Given the description of an element on the screen output the (x, y) to click on. 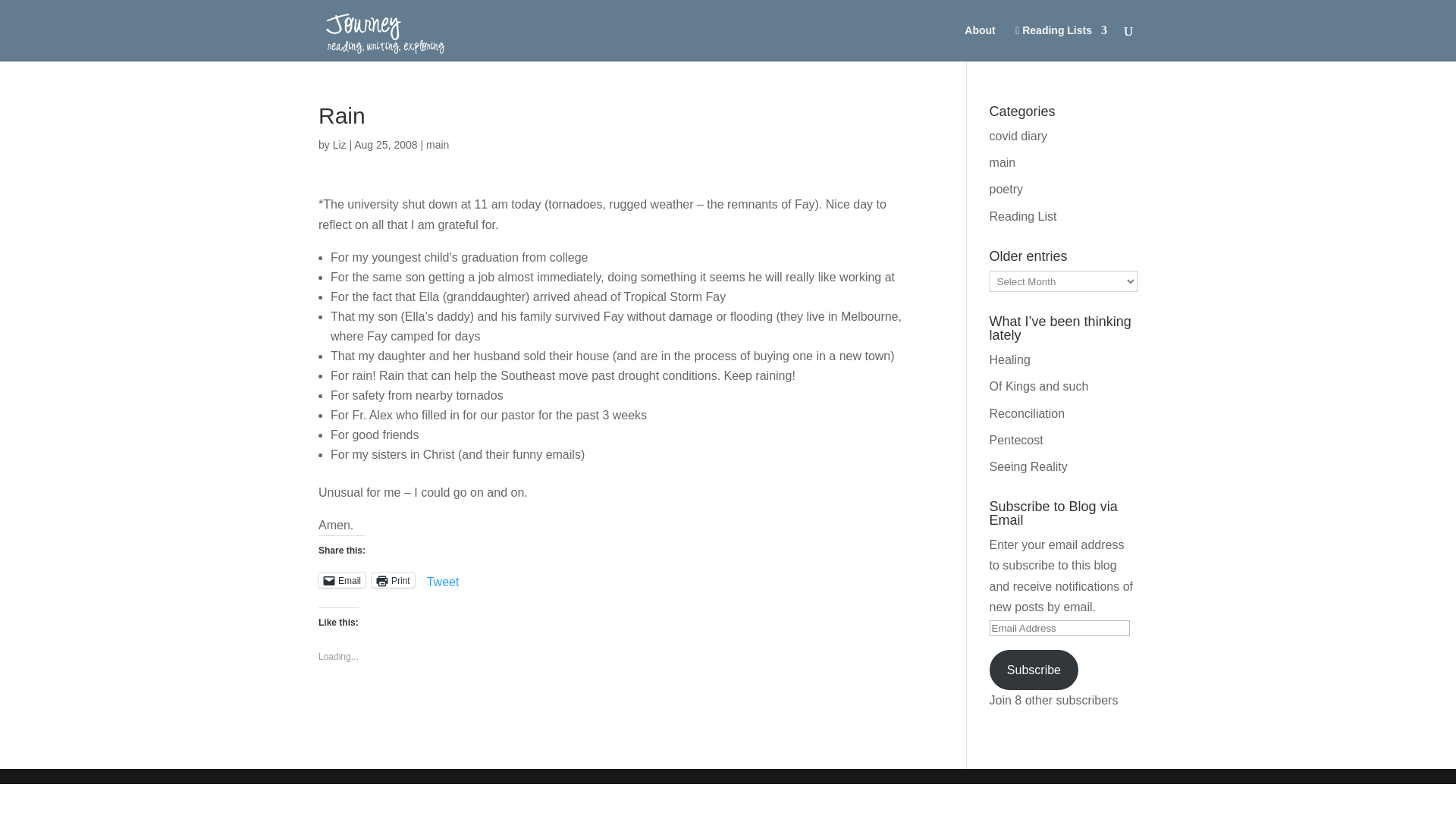
Seeing Reality (1028, 466)
Healing (1010, 359)
covid diary (1018, 135)
Pentecost (1016, 440)
Liz (339, 144)
Email (341, 580)
Posts by Liz (339, 144)
Reading Lists (1060, 43)
Reading List (1023, 215)
Subscribe (1034, 670)
main (1003, 162)
About (978, 42)
Click to email a link to a friend (341, 580)
Tweet (443, 579)
Of Kings and such (1039, 386)
